Given the description of an element on the screen output the (x, y) to click on. 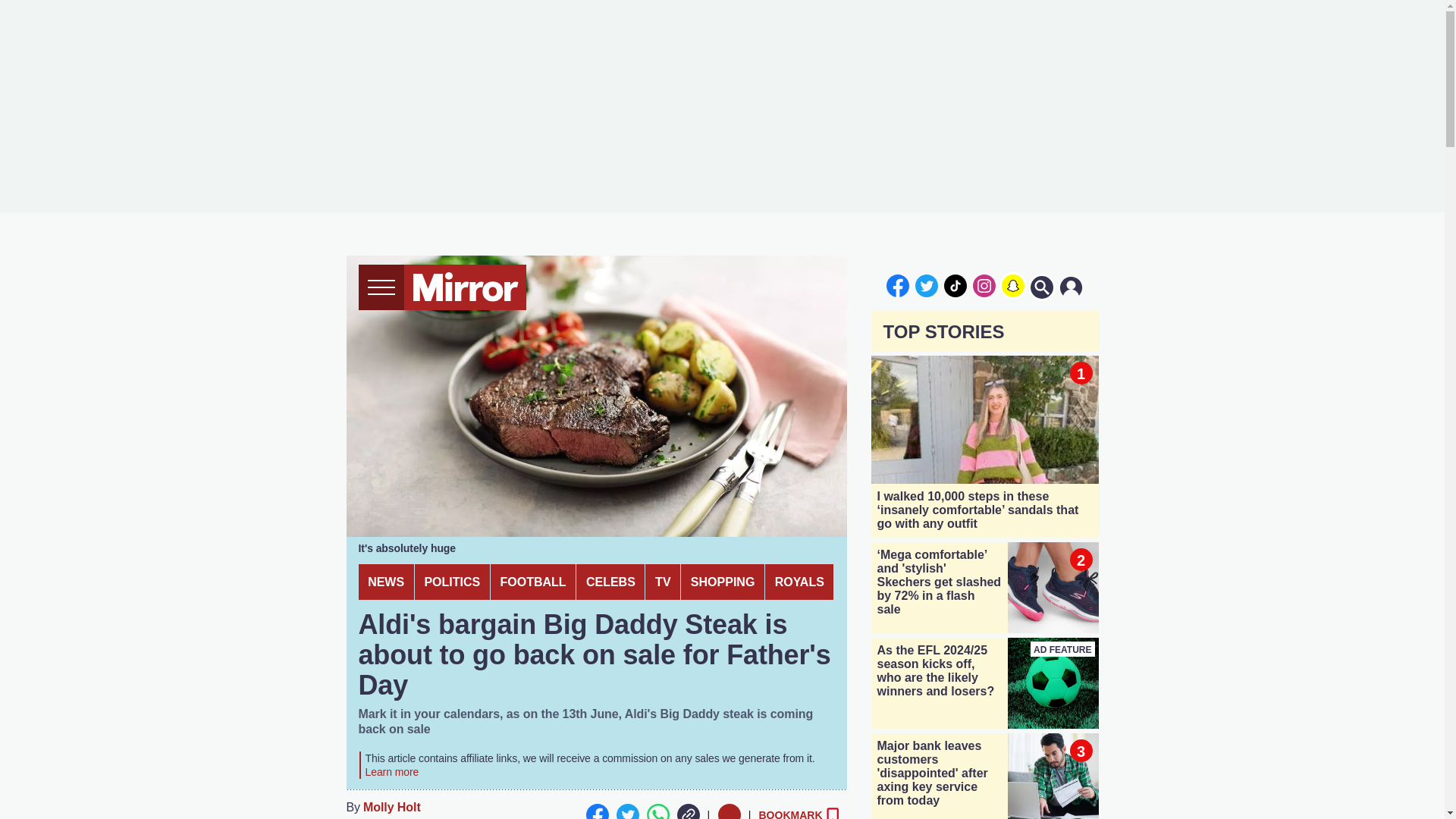
facebook (897, 285)
Twitter (627, 811)
tiktok (955, 285)
Facebook (596, 811)
instagram (984, 285)
snapchat (1012, 285)
twitter (926, 285)
